Given the description of an element on the screen output the (x, y) to click on. 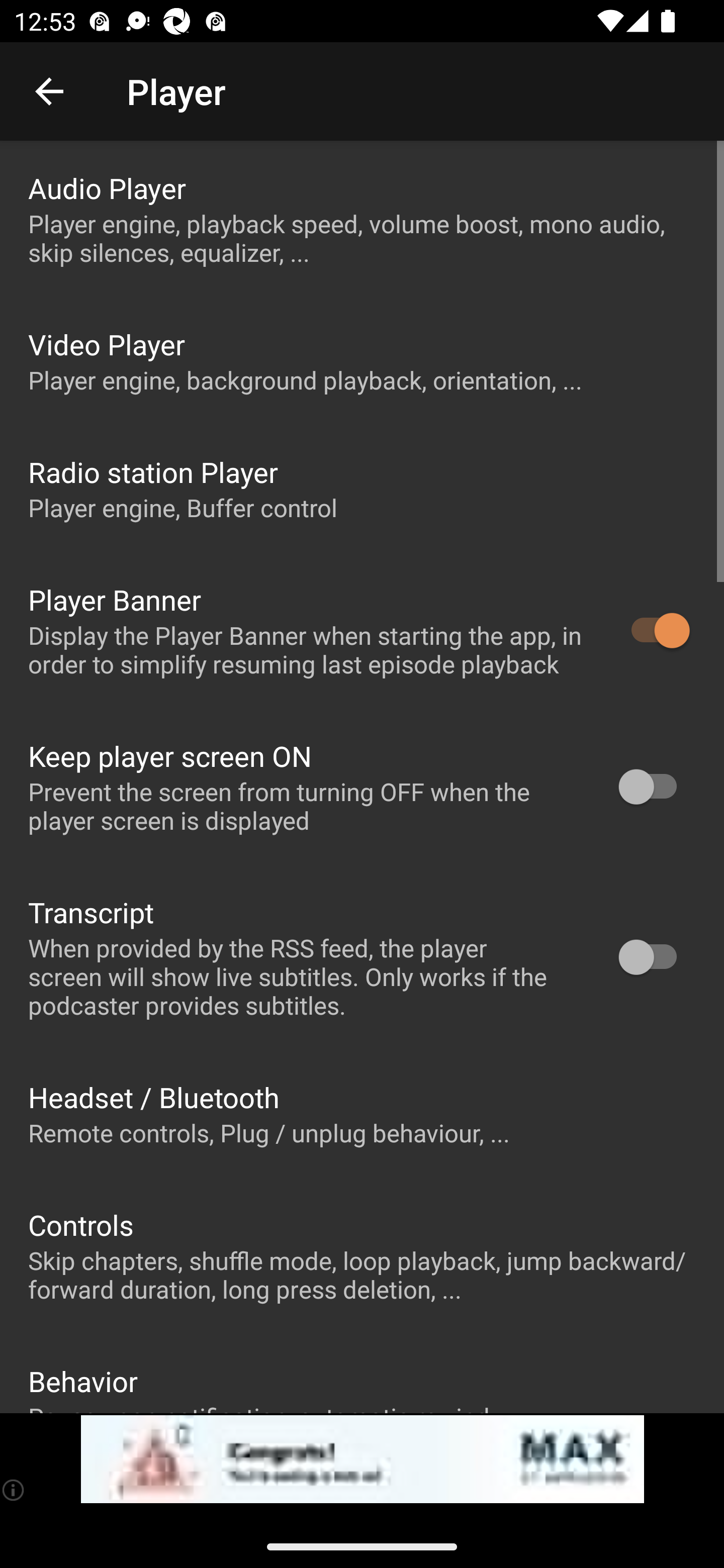
Navigate up (49, 91)
Radio station Player Player engine, Buffer control (362, 487)
app-monetization (362, 1459)
(i) (14, 1489)
